Given the description of an element on the screen output the (x, y) to click on. 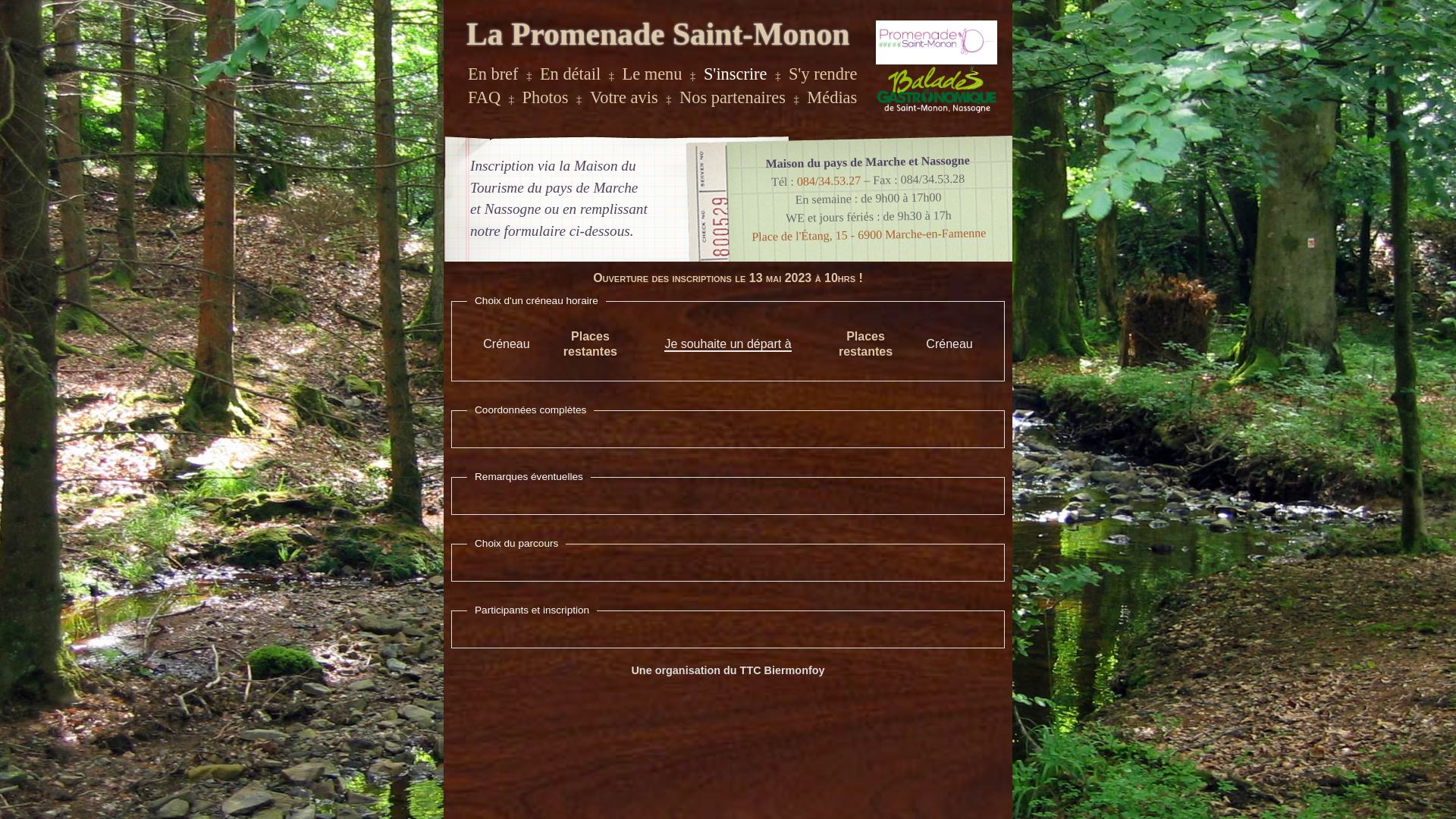
En bref Element type: text (493, 73)
FAQ Element type: text (483, 96)
Photos Element type: text (545, 96)
TTC Biermonfoy Element type: text (782, 670)
Nos partenaires Element type: text (732, 96)
S'inscrire Element type: text (735, 73)
Le menu Element type: text (652, 73)
084/34.53.27 Element type: text (828, 179)
Votre avis Element type: text (623, 96)
S'y rendre Element type: text (822, 73)
